Given the description of an element on the screen output the (x, y) to click on. 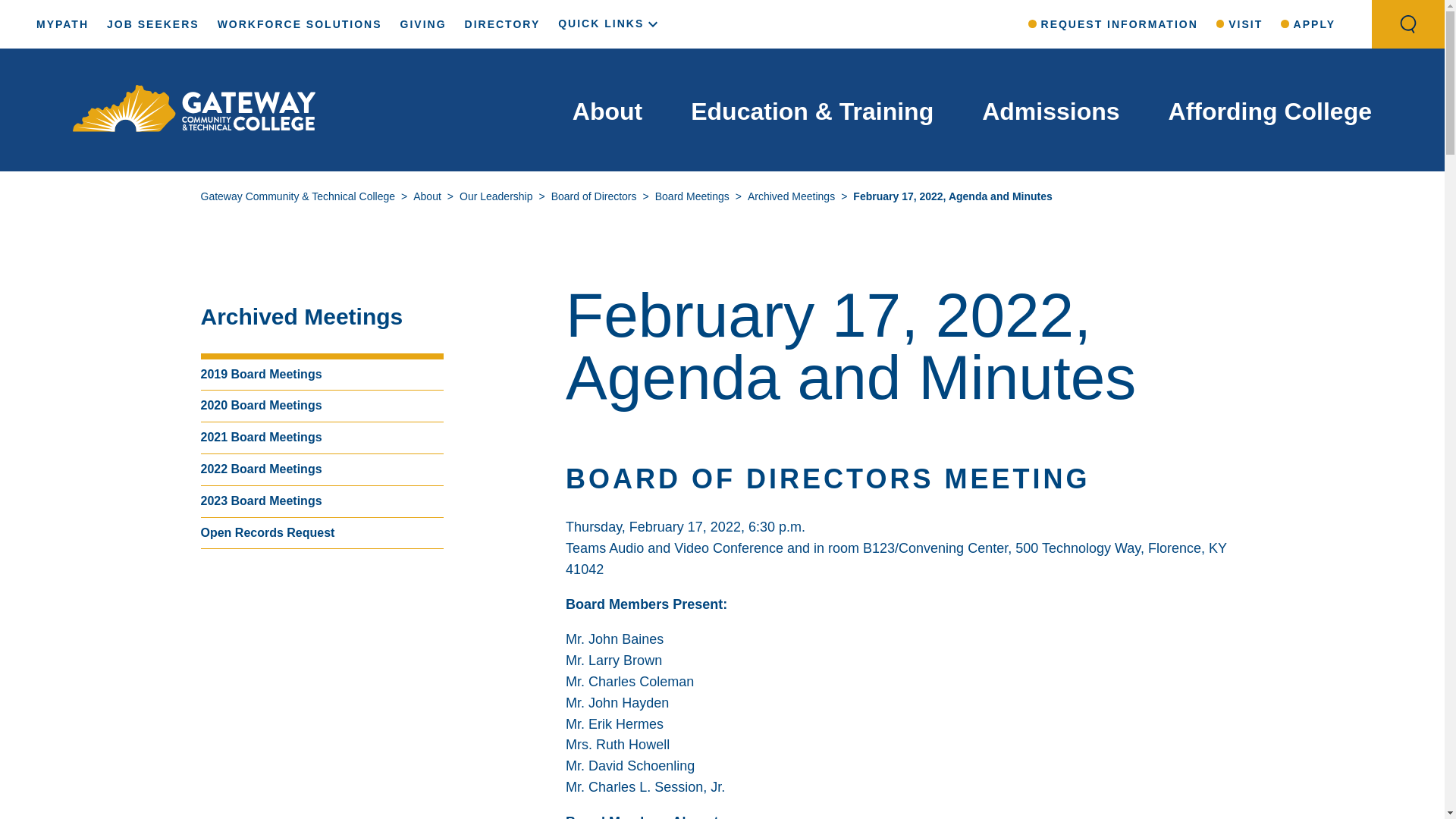
DIRECTORY (502, 23)
QUICK LINKS (609, 22)
GIVING (423, 23)
REQUEST INFORMATION (1112, 24)
JOB SEEKERS (152, 23)
MYPATH (62, 23)
VISIT (1238, 24)
APPLY (1308, 24)
WORKFORCE SOLUTIONS (298, 23)
